Given the description of an element on the screen output the (x, y) to click on. 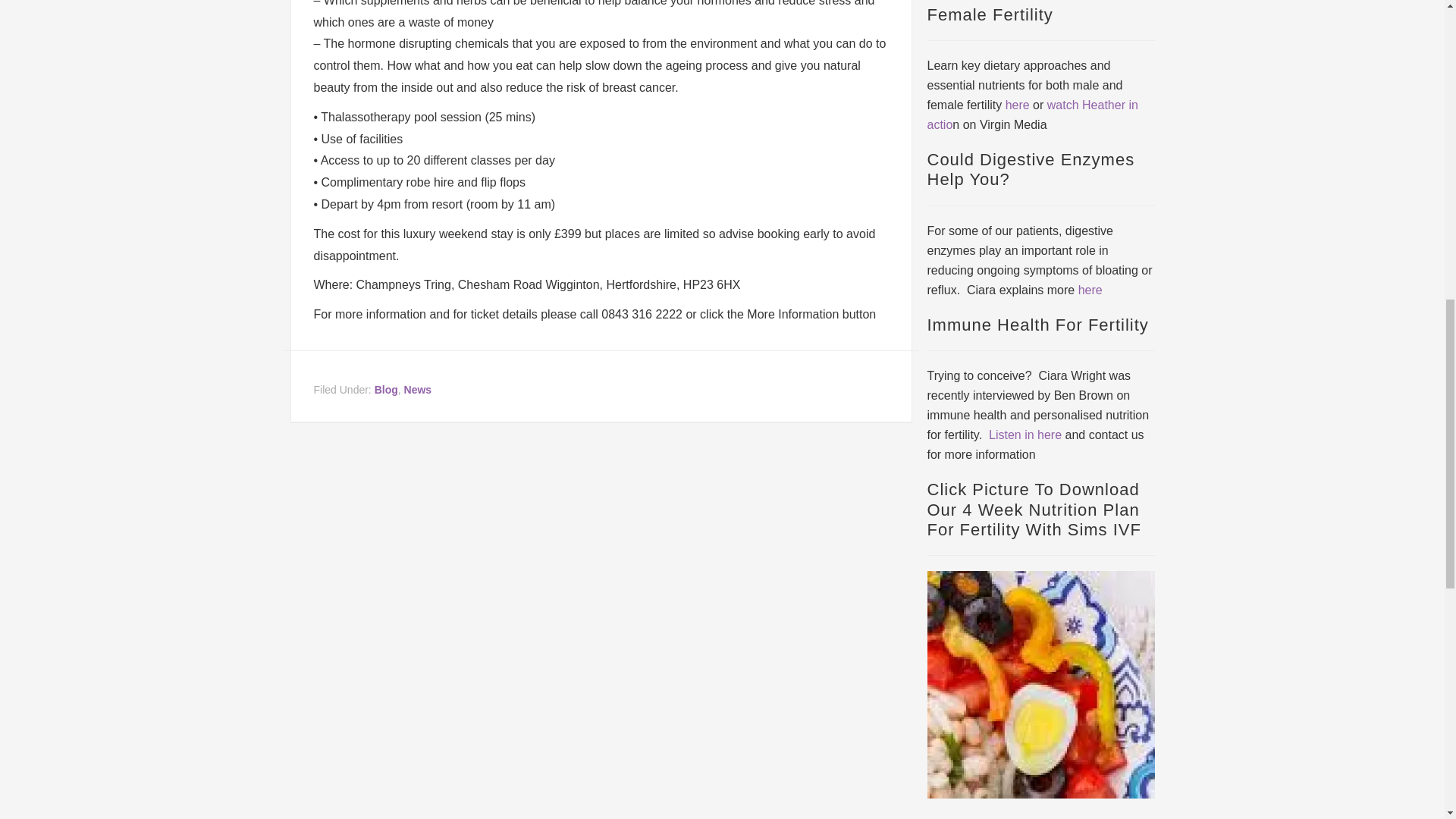
Blog (385, 389)
